Given the description of an element on the screen output the (x, y) to click on. 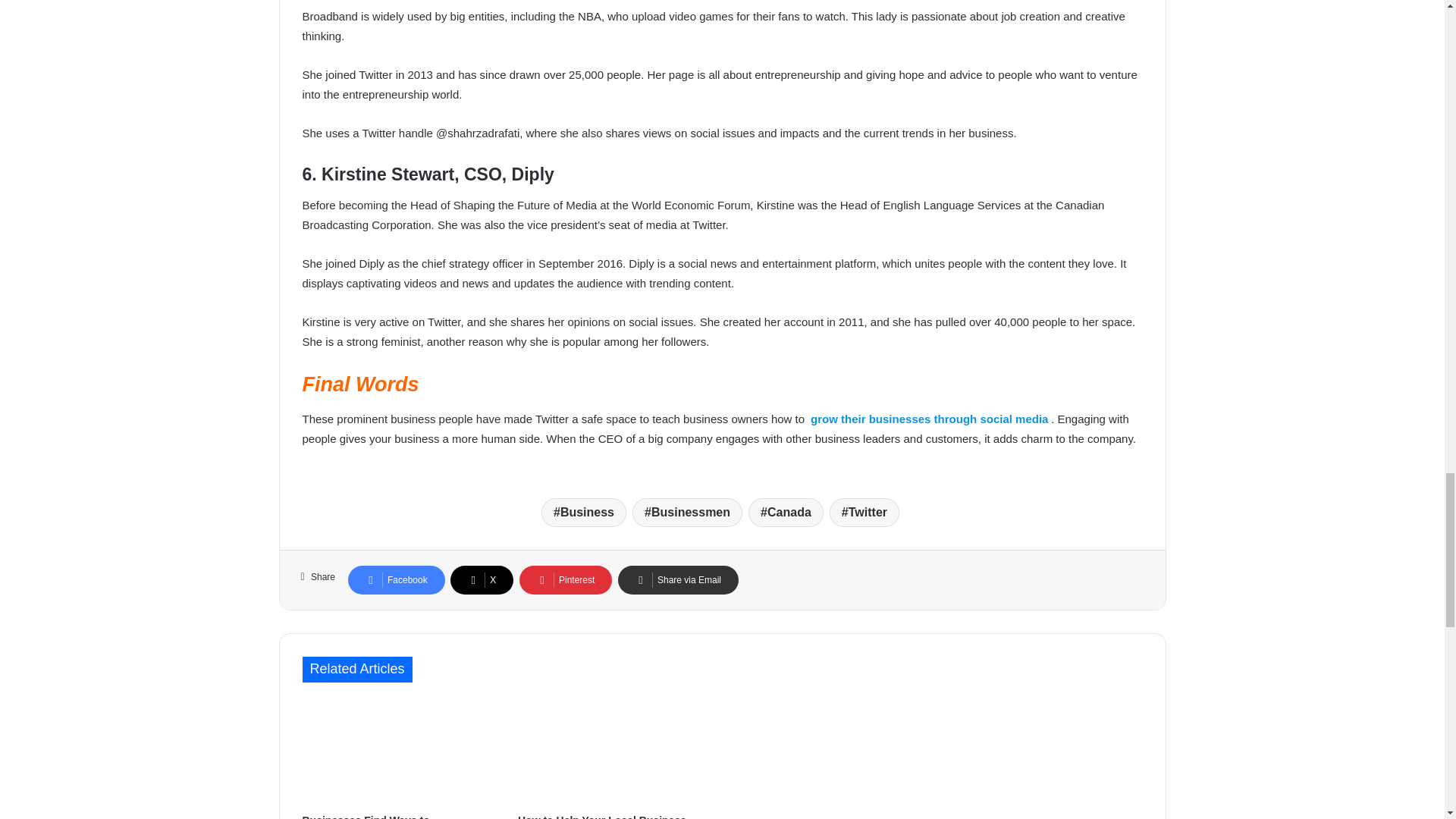
X (481, 579)
Pinterest (565, 579)
Facebook (396, 579)
